Given the description of an element on the screen output the (x, y) to click on. 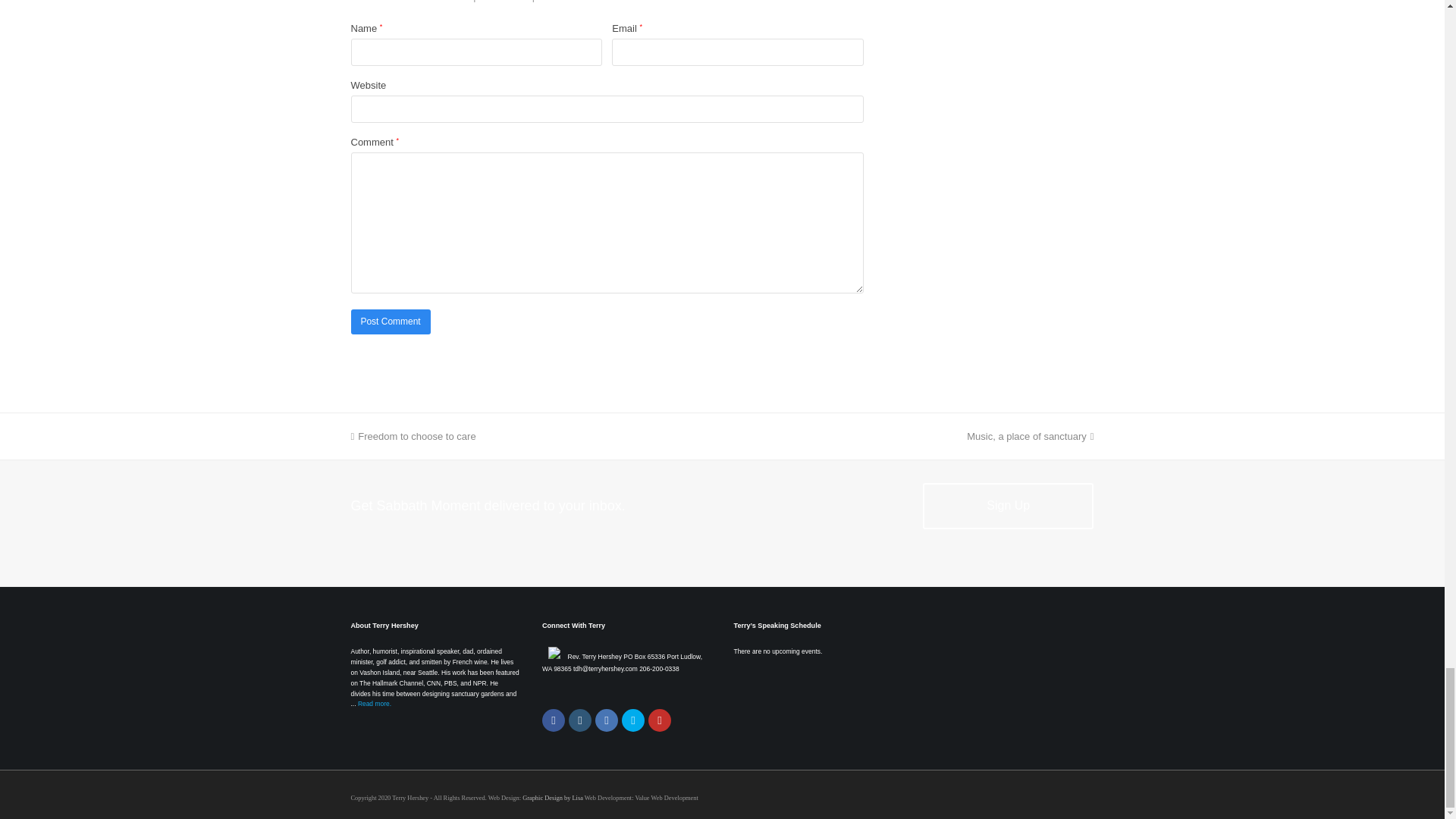
Post Comment (389, 321)
Twitter (633, 720)
Instagram (580, 720)
Youtube (659, 720)
LinkedIn (606, 720)
Post Comment (389, 321)
Facebook (552, 720)
About (374, 703)
